Given the description of an element on the screen output the (x, y) to click on. 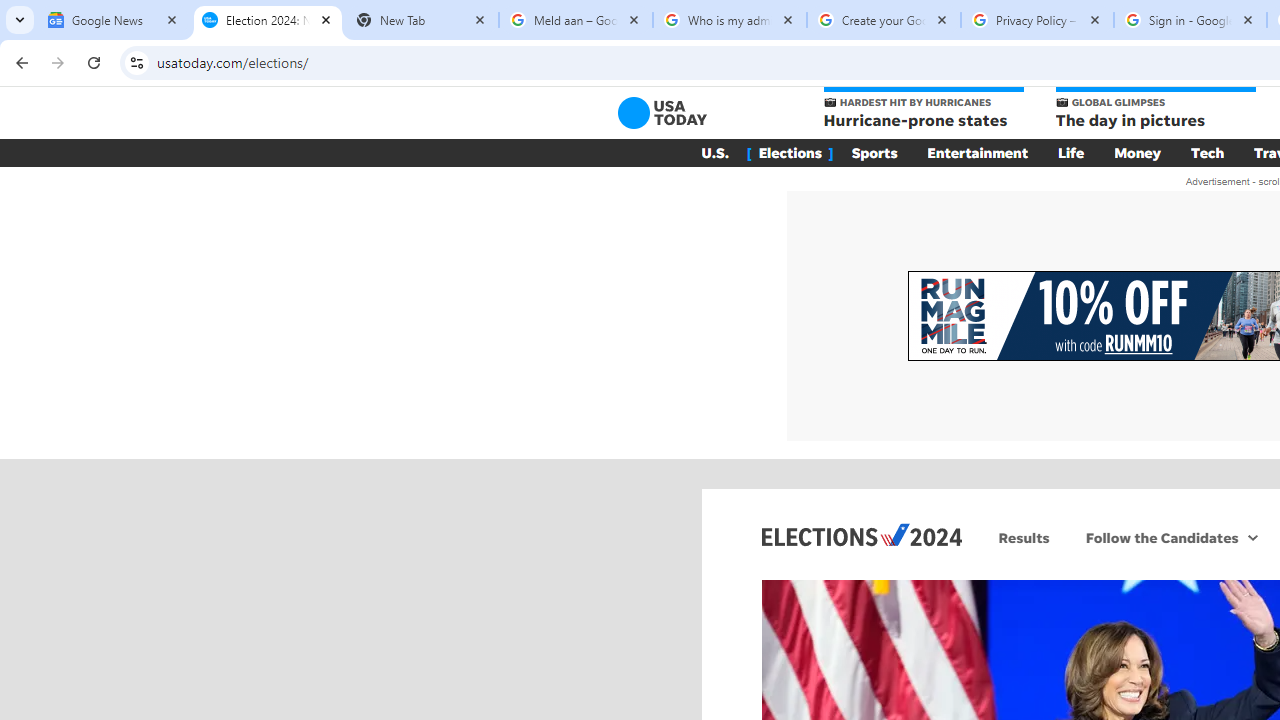
Elections 2024 (861, 534)
More Follow the Candidates navigation (1252, 537)
Sports (873, 152)
Entertainment (977, 152)
Life (1071, 152)
Google News (113, 20)
Create your Google Account (883, 20)
Follow the Candidates (1159, 537)
Money (1137, 152)
[ Elections ] (789, 152)
